Given the description of an element on the screen output the (x, y) to click on. 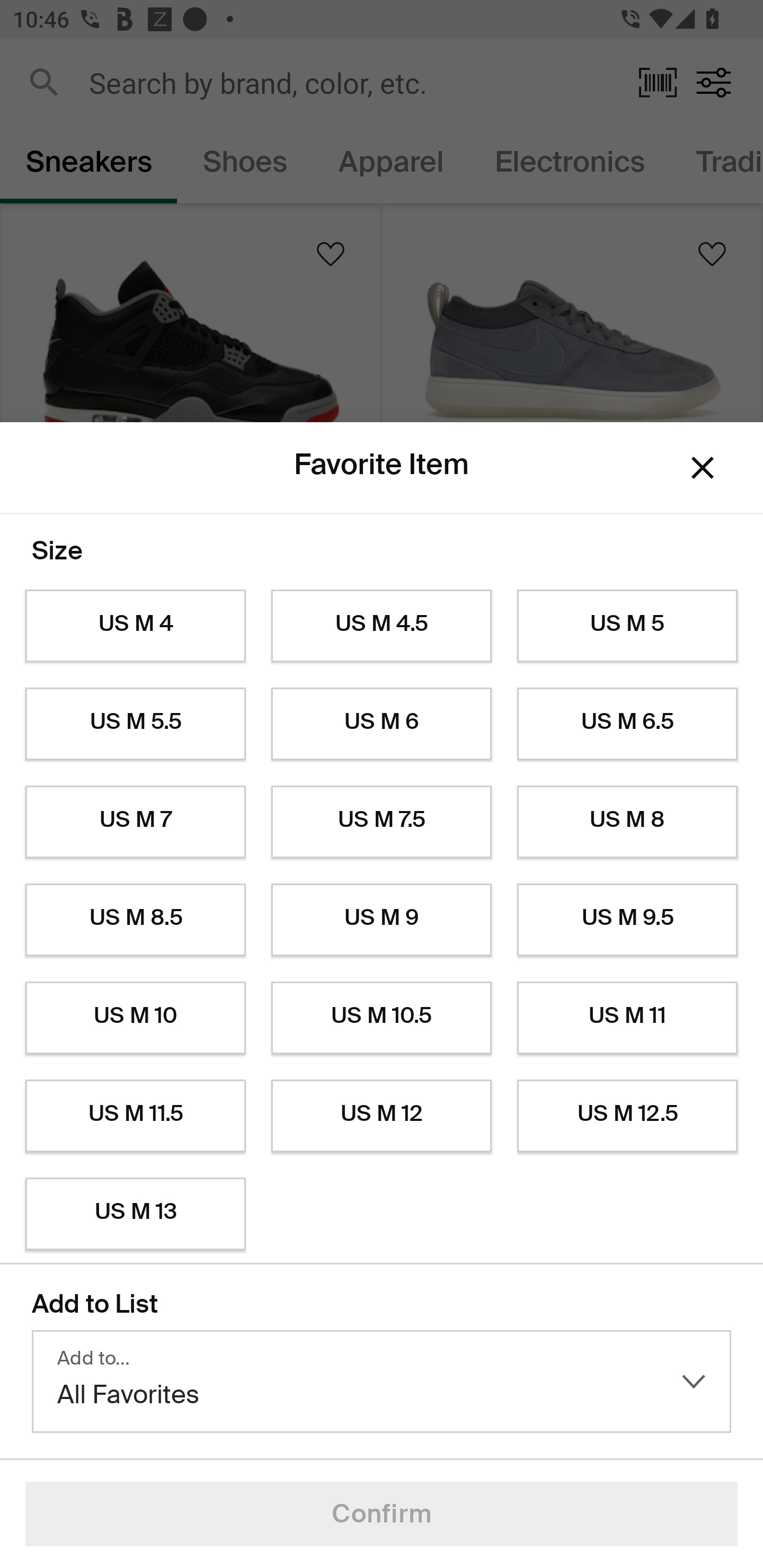
Dismiss (702, 467)
US M 4 (135, 626)
US M 4.5 (381, 626)
US M 5 (627, 626)
US M 5.5 (135, 724)
US M 6 (381, 724)
US M 6.5 (627, 724)
US M 7 (135, 822)
US M 7.5 (381, 822)
US M 8 (627, 822)
US M 8.5 (135, 919)
US M 9 (381, 919)
US M 9.5 (627, 919)
US M 10 (135, 1018)
US M 10.5 (381, 1018)
US M 11 (627, 1018)
US M 11.5 (135, 1116)
US M 12 (381, 1116)
US M 12.5 (627, 1116)
US M 13 (135, 1214)
Add to… All Favorites (381, 1381)
Confirm (381, 1513)
